Given the description of an element on the screen output the (x, y) to click on. 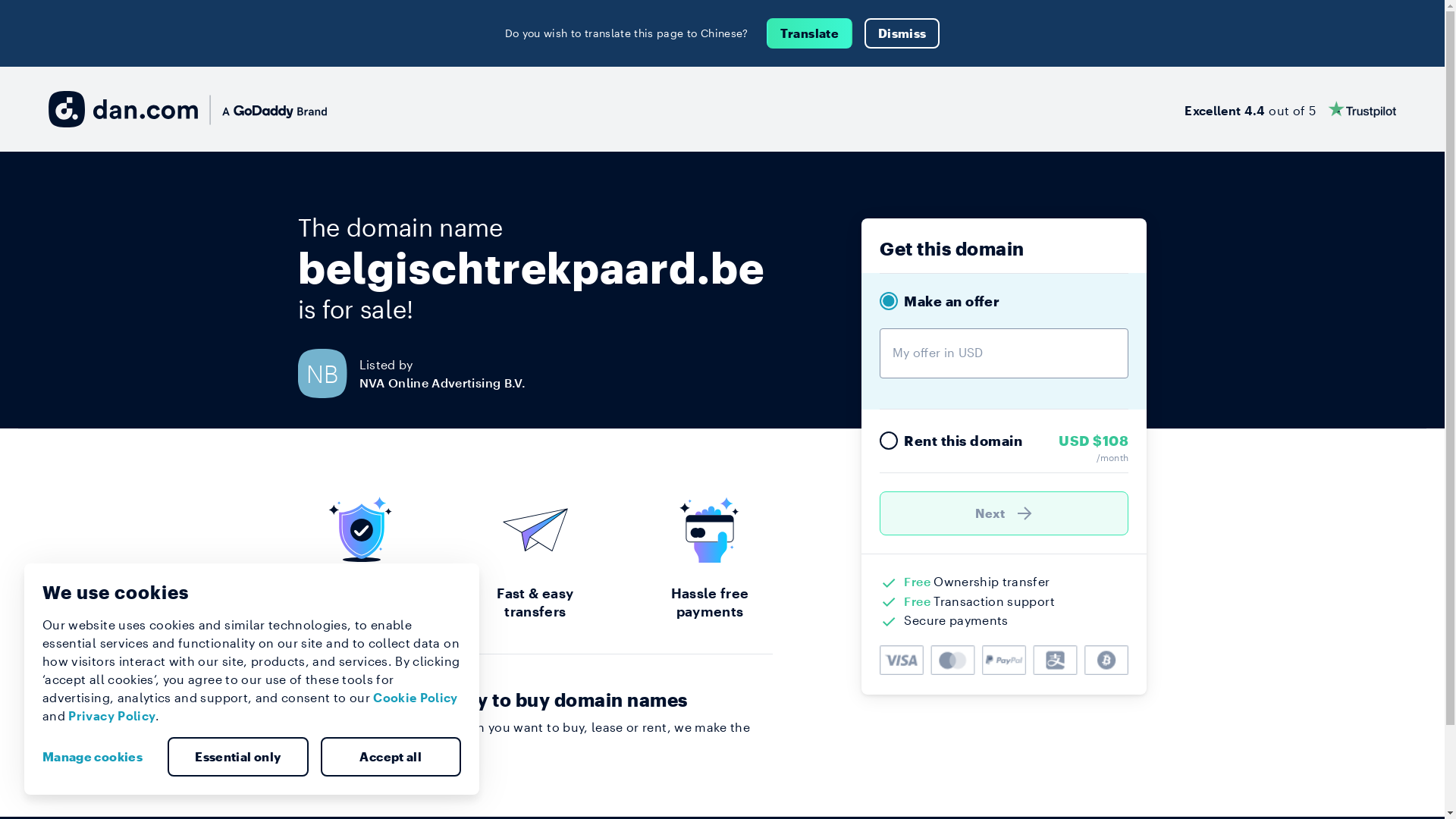
Excellent 4.4 out of 5 Element type: text (1290, 109)
Translate Element type: text (809, 33)
Next
) Element type: text (1003, 513)
Cookie Policy Element type: text (415, 697)
Essential only Element type: text (237, 756)
Dismiss Element type: text (901, 33)
Manage cookies Element type: text (98, 756)
Privacy Policy Element type: text (111, 715)
Accept all Element type: text (390, 756)
